Given the description of an element on the screen output the (x, y) to click on. 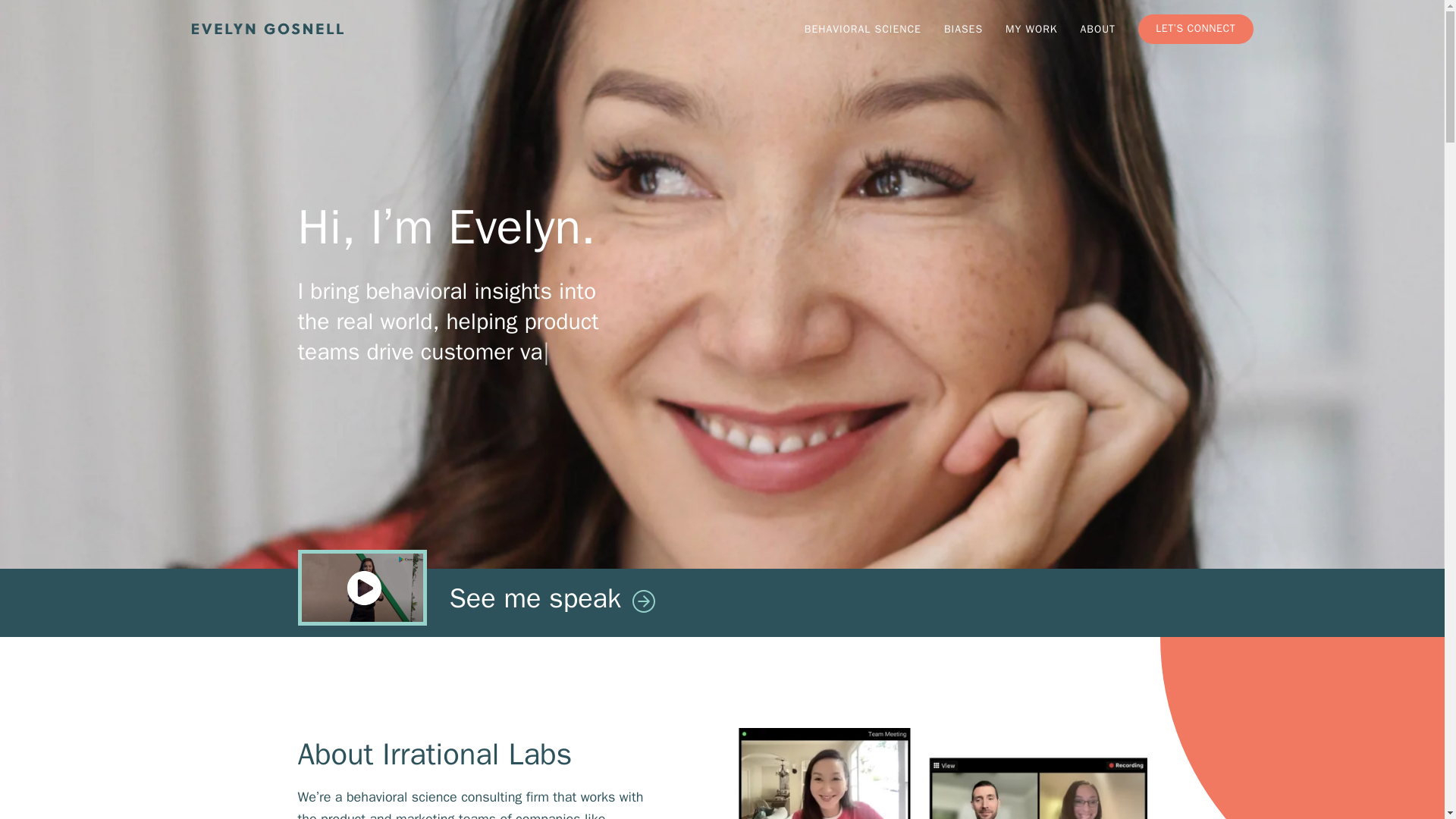
BEHAVIORAL SCIENCE (863, 29)
MY WORK (1031, 29)
ABOUT (1097, 29)
BIASES (962, 29)
See me speak (722, 602)
